Given the description of an element on the screen output the (x, y) to click on. 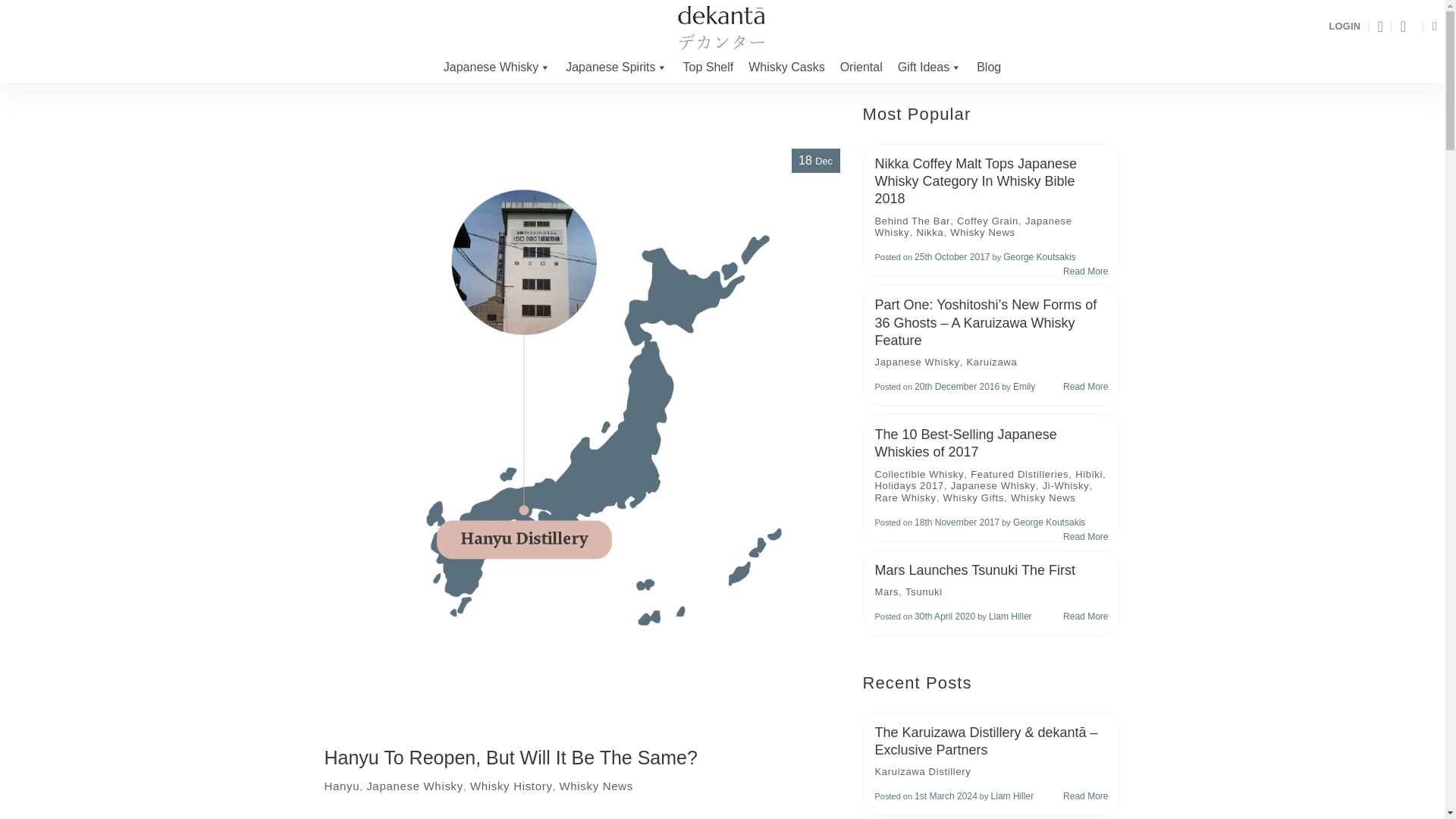
Japanese Whisky (496, 67)
Opens a widget where you can find more information (1386, 792)
LOGIN (1343, 26)
